Given the description of an element on the screen output the (x, y) to click on. 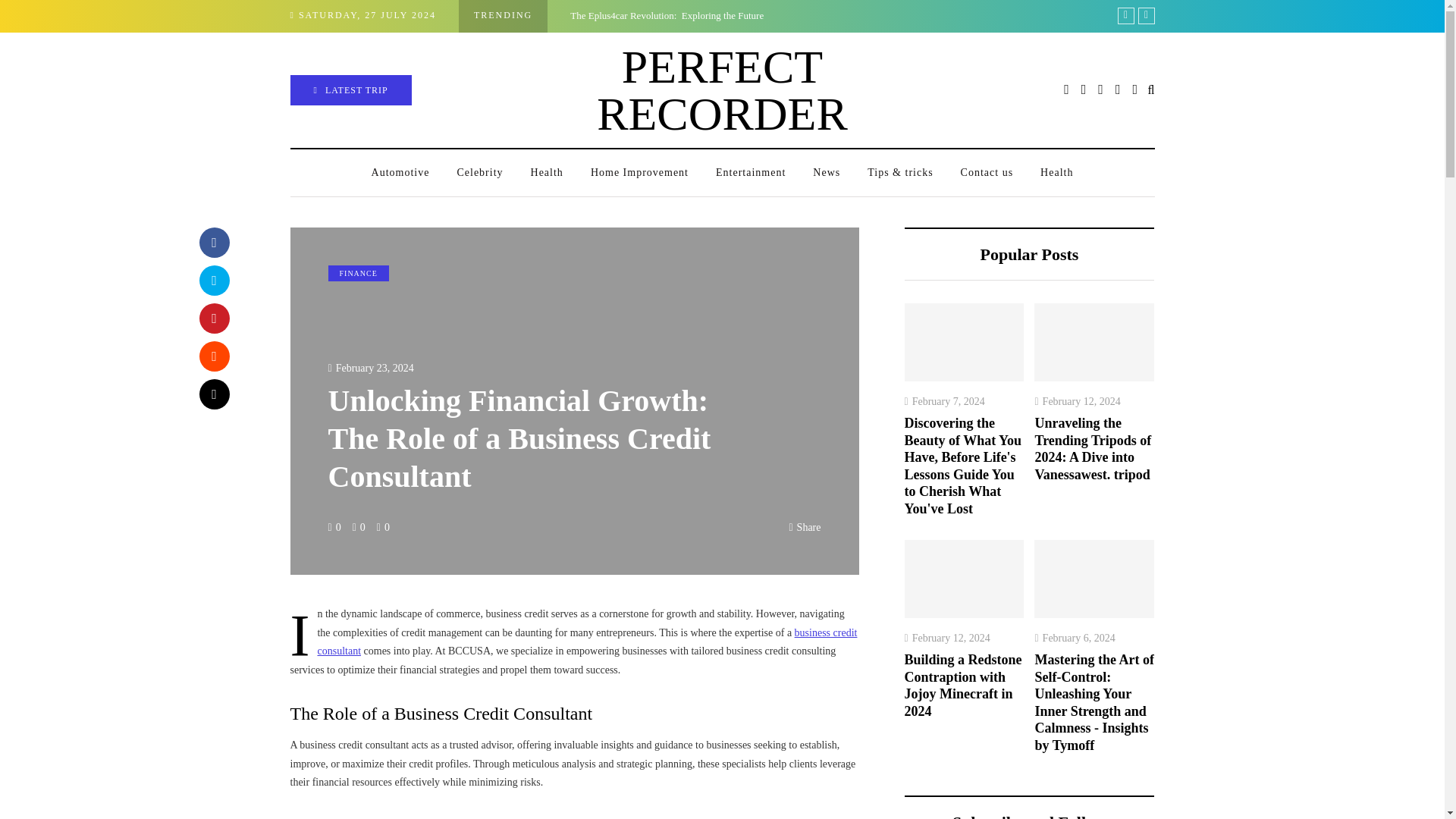
Health (1056, 172)
Contact us (987, 172)
News (826, 172)
Tweet this (213, 280)
LATEST TRIP (349, 90)
Share by Email (213, 394)
FINANCE (357, 273)
Health (546, 172)
Automotive (401, 172)
Share with Facebook (213, 242)
Entertainment (750, 172)
Building a Redstone Contraption with Jojoy Minecraft in 2024 (1247, 15)
business credit consultant (587, 642)
Share on Reddit (213, 356)
Home Improvement (638, 172)
